Given the description of an element on the screen output the (x, y) to click on. 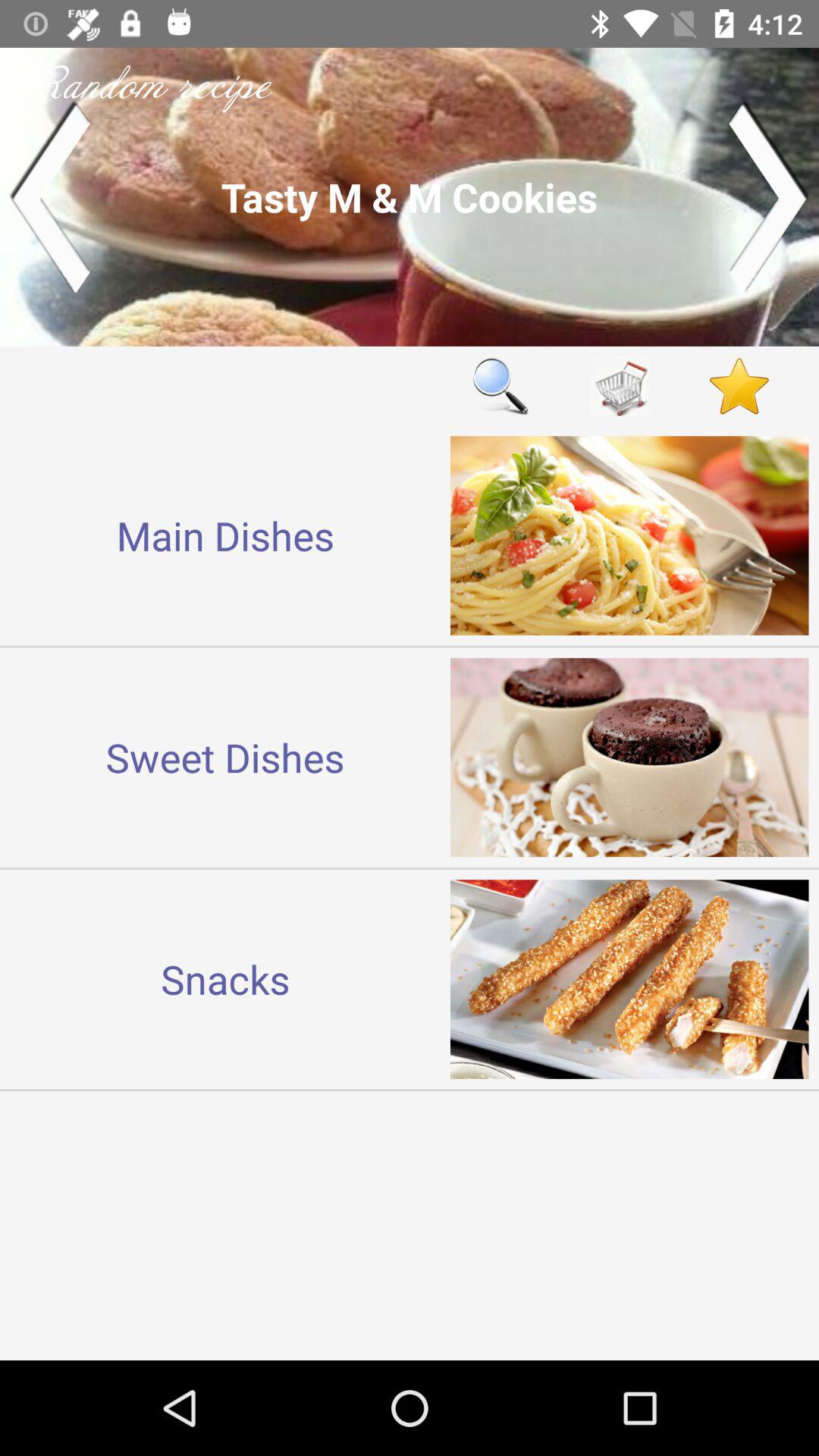
add as favorite (739, 385)
